Given the description of an element on the screen output the (x, y) to click on. 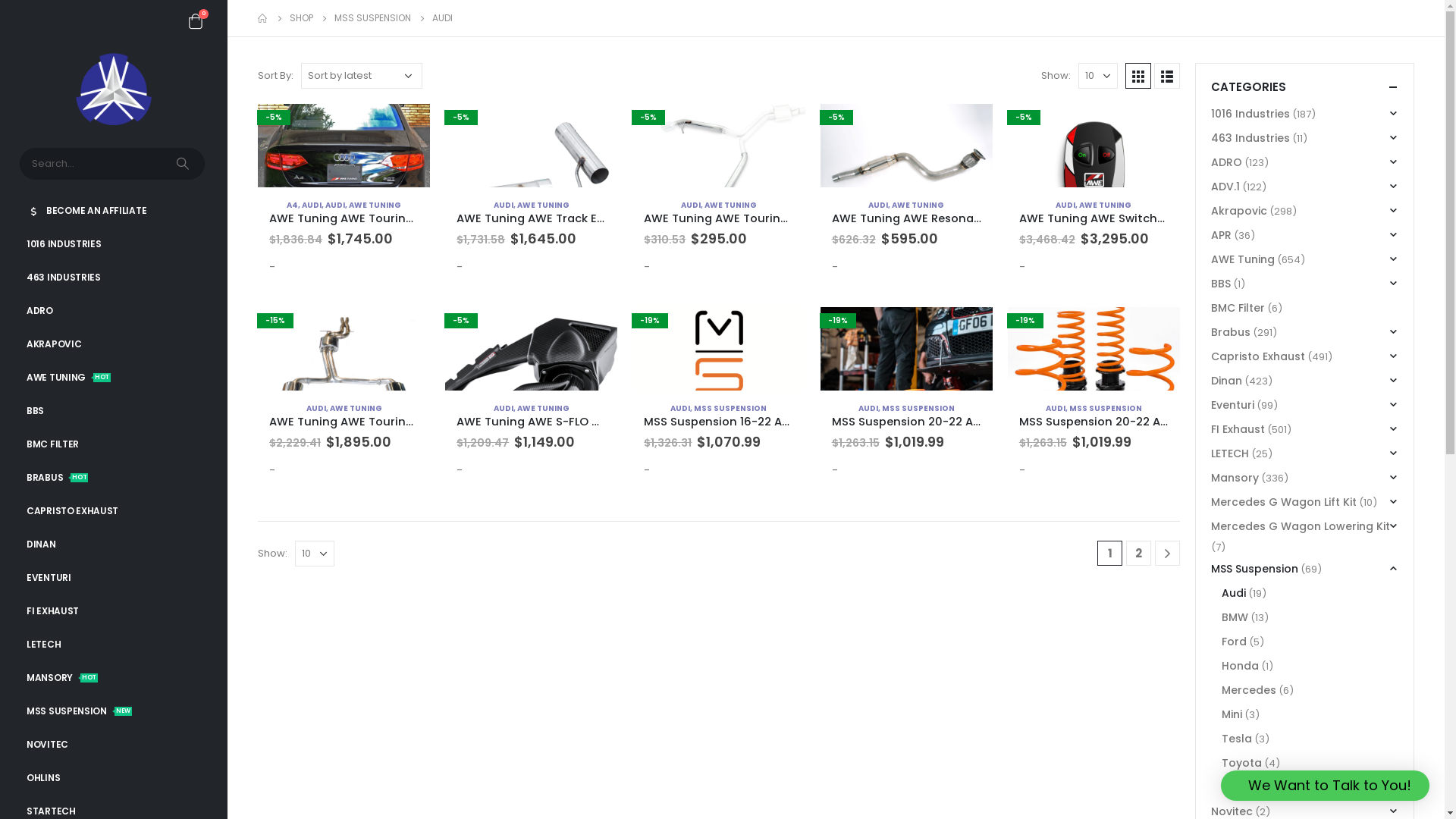
MSS SUSPENSIONNEW Element type: text (113, 711)
Dinan Element type: text (1226, 380)
-5% Element type: text (1093, 145)
Tesla Element type: text (1236, 738)
MSS Suspension Element type: text (1254, 568)
AWE TUNING Element type: text (543, 408)
-15% Element type: text (343, 348)
MSS SUSPENSION Element type: text (372, 18)
AWE Tuning Element type: text (1242, 259)
Audi Element type: text (1233, 592)
MSS Suspension 16-22 Audi RSQ3 Urban Fully Adjustable Kit Element type: text (718, 421)
We Want to Talk to You! Element type: text (1324, 785)
Mercedes G Wagon Lowering Kit Element type: text (1300, 526)
AUDI Element type: text (503, 408)
Ford Element type: text (1233, 641)
AUDI Element type: text (503, 204)
AUDI Element type: text (311, 204)
AUDI Element type: text (680, 408)
AWE TUNINGHOT Element type: text (113, 377)
Mini Element type: text (1231, 714)
EVENTURI Element type: text (113, 577)
FI EXHAUST Element type: text (113, 611)
Eventuri Element type: text (1232, 404)
Grid View Element type: hover (1138, 75)
AWE TUNING Element type: text (730, 204)
463 INDUSTRIES Element type: text (113, 277)
MSS SUSPENSION Element type: text (729, 408)
-5% Element type: text (718, 145)
2 Element type: text (1138, 552)
-19% Element type: text (1093, 348)
Mercedes G Wagon Lift Kit Element type: text (1283, 501)
FI Exhaust Element type: text (1237, 429)
A4 Element type: text (292, 204)
Mercedes Element type: text (1248, 689)
APR Element type: text (1221, 234)
DINAN Element type: text (113, 544)
ADV.1 Element type: text (1225, 186)
Go to Home Page Element type: hover (262, 18)
AKRAPOVIC Element type: text (113, 344)
MANSORYHOT Element type: text (113, 678)
BMC FILTER Element type: text (113, 444)
BBS Element type: text (1220, 283)
AWE TUNING Element type: text (917, 204)
BMC Filter Element type: text (1237, 307)
3W Distributing Shop - #1 Premier BRABUS Dealer USA Element type: hover (113, 89)
NOVITEC Element type: text (113, 744)
Search Element type: hover (183, 163)
AUDI Element type: text (878, 204)
AWE TUNING Element type: text (374, 204)
-5% Element type: text (906, 145)
AUDI Element type: text (1065, 204)
OHLINS Element type: text (113, 778)
MSS SUSPENSION Element type: text (917, 408)
Akrapovic Element type: text (1239, 210)
BMW Element type: text (1234, 617)
Volkswagen Element type: text (1255, 787)
LETECH Element type: text (1229, 453)
1016 INDUSTRIES Element type: text (113, 244)
AWE TUNING Element type: text (543, 204)
-5% Element type: text (531, 348)
AUDI Element type: text (690, 204)
AWE Tuning AWE S-FLO Carbon Intake for Audi C7 RS 6 / RS 7 Element type: text (530, 421)
-5% Element type: text (531, 145)
AUDI Element type: text (1055, 408)
BRABUSHOT Element type: text (113, 477)
-5% Element type: text (343, 145)
LETECH Element type: text (113, 644)
Toyota Element type: text (1241, 762)
Honda Element type: text (1239, 665)
1016 Industries Element type: text (1250, 113)
Brabus Element type: text (1230, 332)
AWE TUNING Element type: text (355, 408)
Mansory Element type: text (1234, 477)
463 Industries Element type: text (1250, 137)
List View Element type: hover (1166, 75)
Capristo Exhaust Element type: text (1258, 356)
BBS Element type: text (113, 411)
ADRO Element type: text (113, 310)
-19% Element type: text (906, 348)
AWE TUNING Element type: text (1105, 204)
CAPRISTO EXHAUST Element type: text (113, 511)
AUDI Element type: text (316, 408)
AUDI Element type: text (868, 408)
BECOME AN AFFILIATE Element type: text (113, 210)
MSS SUSPENSION Element type: text (1105, 408)
ADRO Element type: text (1226, 162)
AUDI Element type: text (335, 204)
-19% Element type: text (718, 348)
SHOP Element type: text (301, 18)
